Given the description of an element on the screen output the (x, y) to click on. 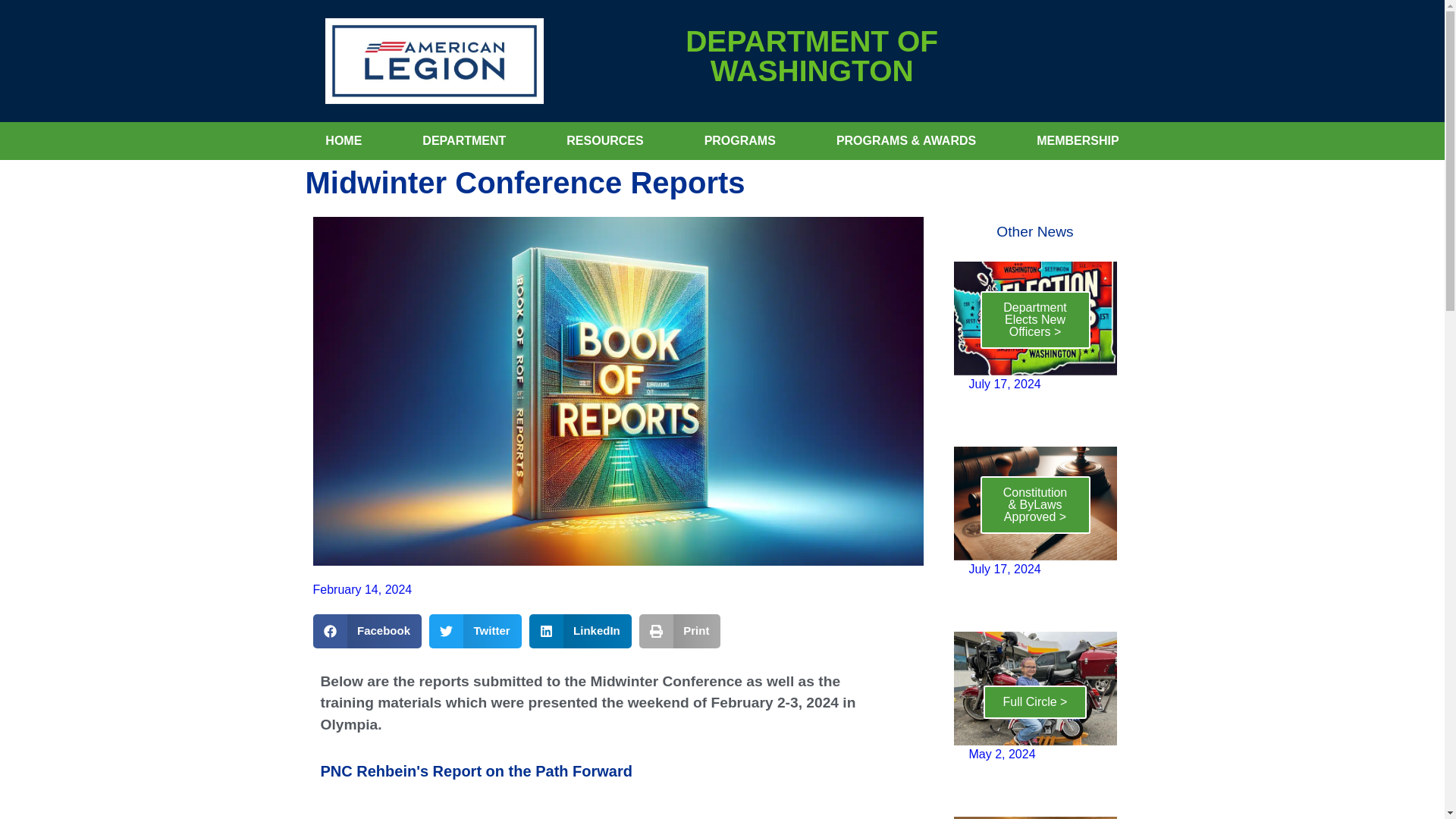
PROGRAMS (739, 140)
HOME (343, 140)
DEPARTMENT (463, 140)
RESOURCES (604, 140)
